Given the description of an element on the screen output the (x, y) to click on. 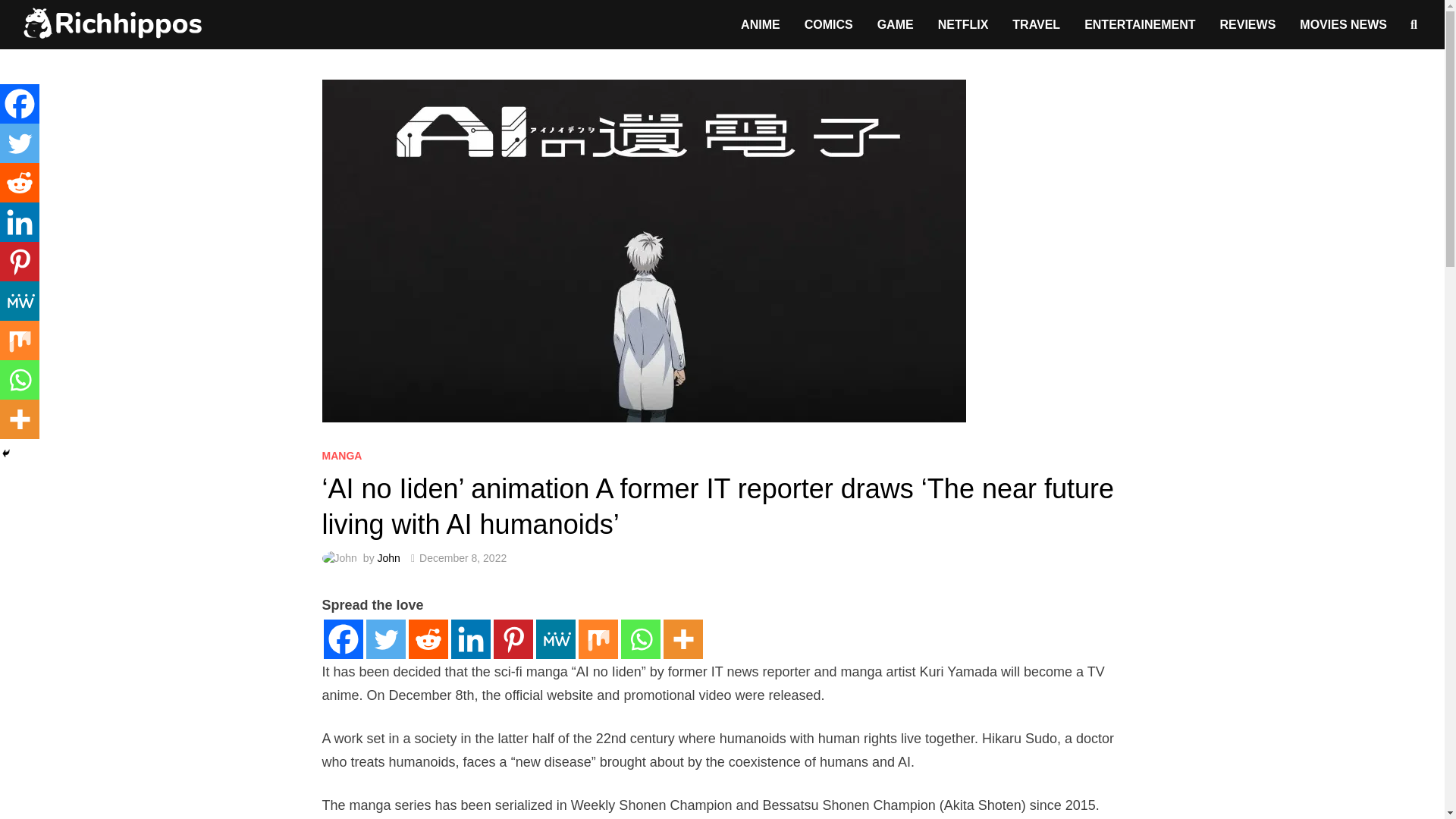
Linkedin (469, 639)
Twitter (384, 639)
Mix (597, 639)
Pinterest (19, 261)
REVIEWS (1248, 24)
COMICS (828, 24)
More (681, 639)
GAME (895, 24)
Facebook (19, 103)
ANIME (760, 24)
MOVIES NEWS (1343, 24)
ENTERTAINEMENT (1139, 24)
Linkedin (19, 221)
December 8, 2022 (462, 558)
Twitter (19, 142)
